Given the description of an element on the screen output the (x, y) to click on. 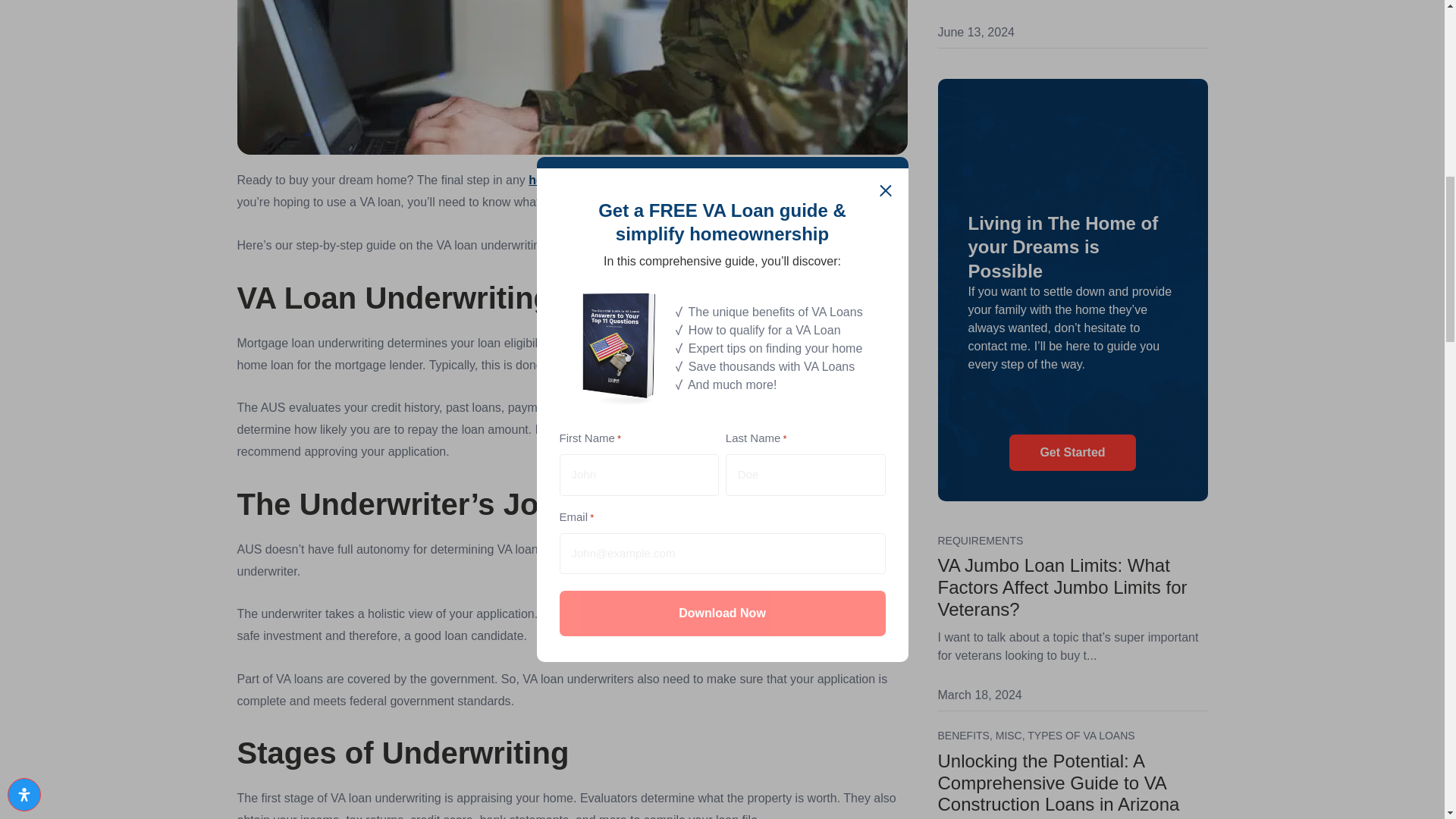
Group 192 (1072, 159)
Start your VA Home Journey - Down Arrow (1073, 403)
